Given the description of an element on the screen output the (x, y) to click on. 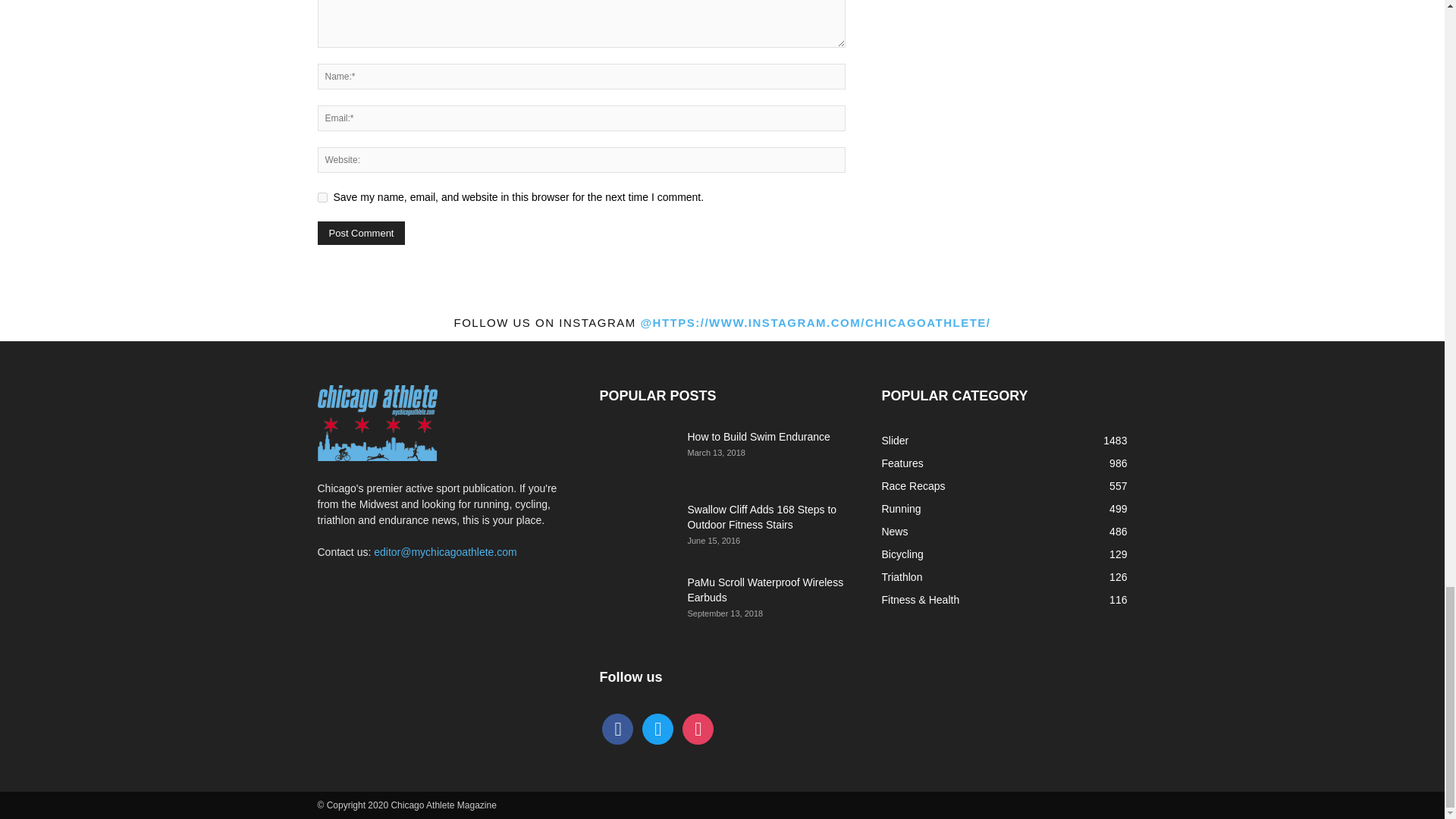
yes (321, 197)
Post Comment (360, 232)
